Given the description of an element on the screen output the (x, y) to click on. 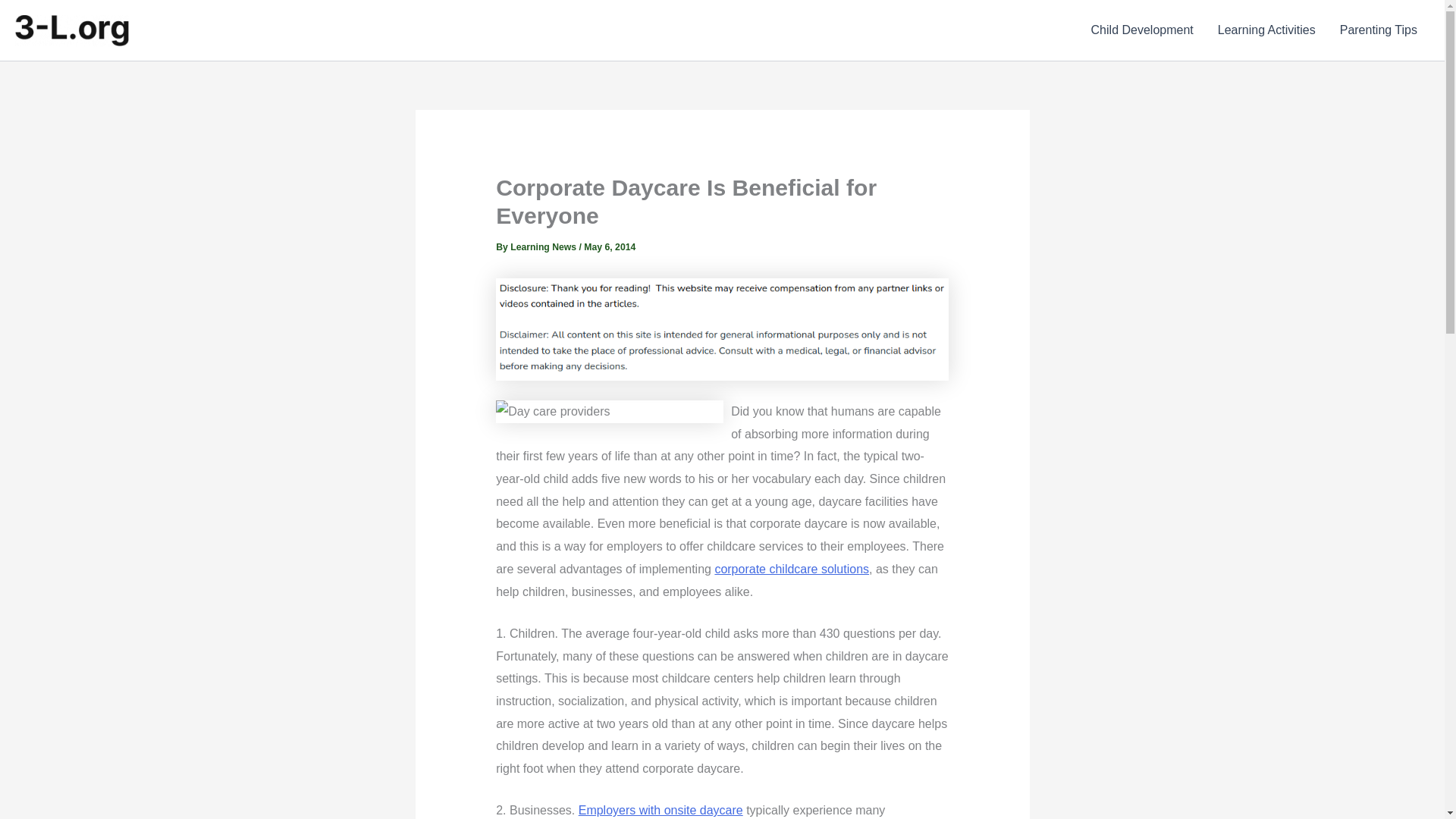
View all posts by Learning News (544, 246)
Child Development (1141, 30)
Learning Activities (1266, 30)
Employers with onsite daycare (660, 809)
Day care providers (791, 568)
Childcare in the workplace, How to find a good daycare (660, 809)
corporate childcare solutions (791, 568)
Parenting Tips (1378, 30)
Learning News (544, 246)
